Given the description of an element on the screen output the (x, y) to click on. 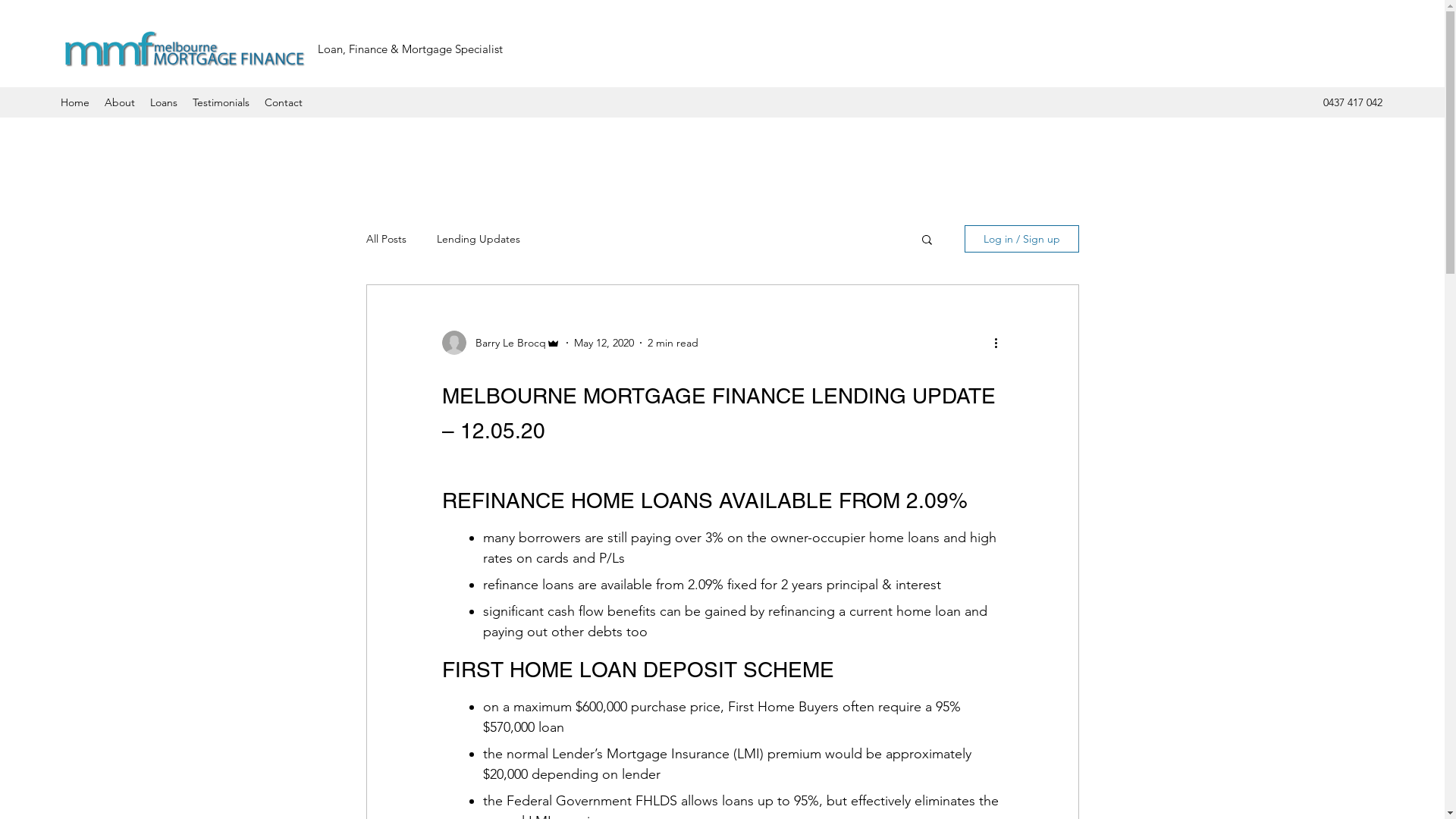
Contact Element type: text (283, 102)
Log in / Sign up Element type: text (1021, 238)
All Posts Element type: text (385, 238)
Lending Updates Element type: text (478, 238)
About Element type: text (119, 102)
Testimonials Element type: text (221, 102)
Home Element type: text (75, 102)
Loans Element type: text (163, 102)
